Given the description of an element on the screen output the (x, y) to click on. 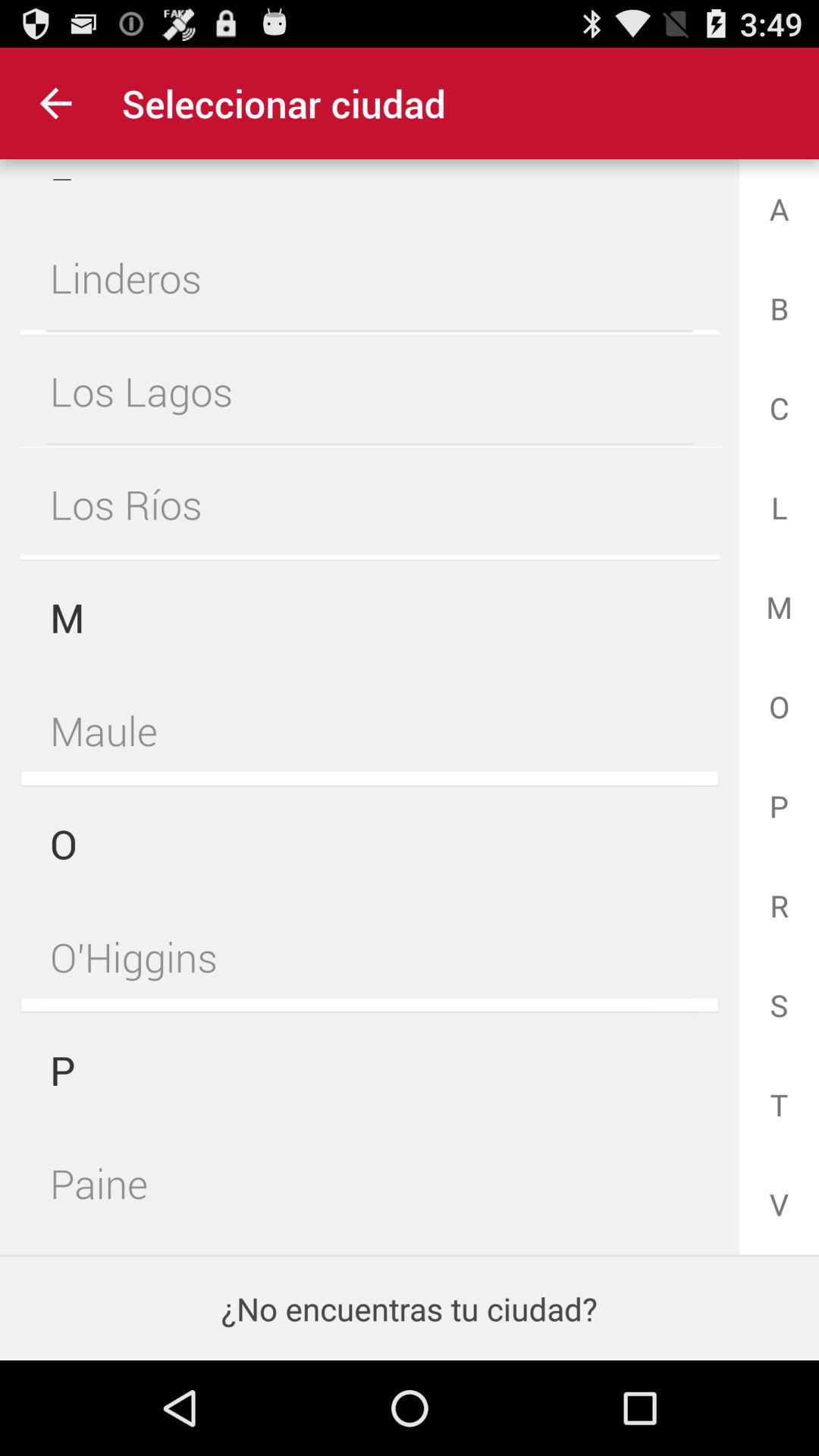
launch the icon next to seleccionar ciudad (55, 103)
